Given the description of an element on the screen output the (x, y) to click on. 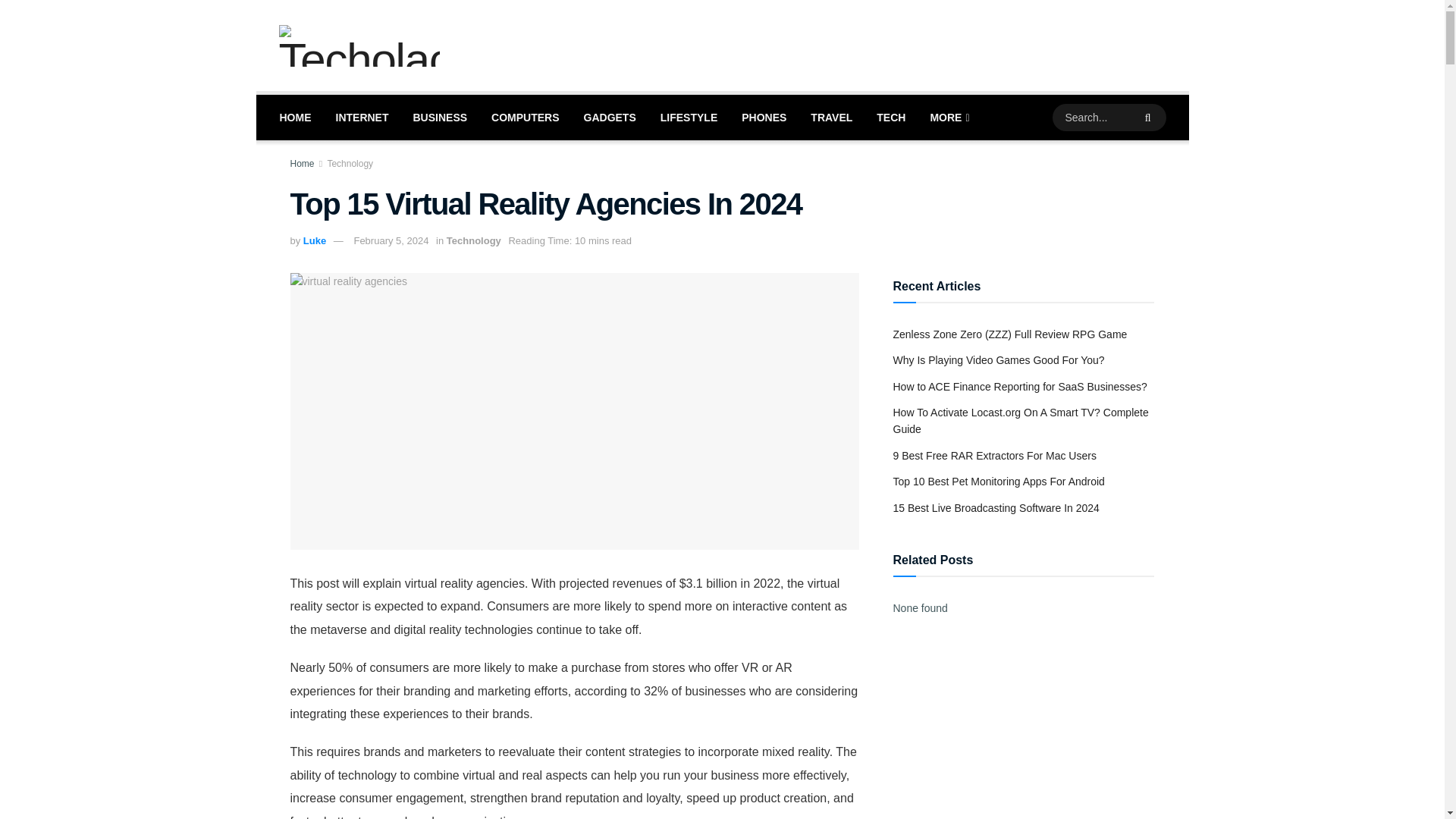
TECH (890, 117)
GADGETS (609, 117)
TRAVEL (830, 117)
INTERNET (361, 117)
PHONES (763, 117)
BUSINESS (439, 117)
COMPUTERS (524, 117)
MORE (947, 117)
HOME (294, 117)
LIFESTYLE (688, 117)
